Given the description of an element on the screen output the (x, y) to click on. 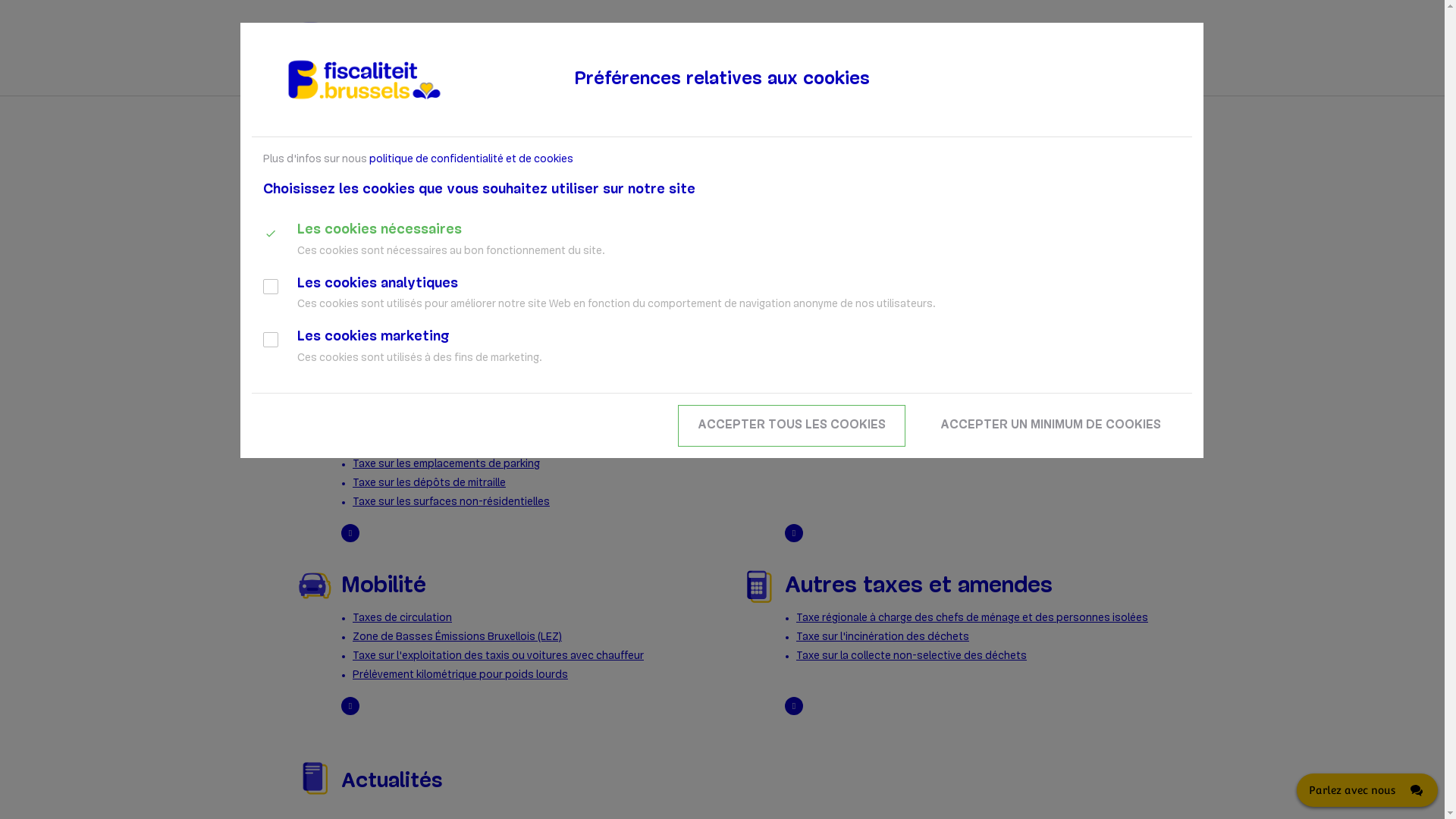
Entreprises Element type: text (845, 375)
Taxe sur l'exploitation des taxis ou voitures avec chauffeur Element type: text (497, 656)
ACCEPTER UN MINIMUM DE COOKIES Element type: text (1050, 425)
JOBS Element type: text (1038, 83)
AIDE Element type: text (1077, 83)
RECHERCHE Element type: text (1112, 43)
FR Element type: text (1147, 43)
ORGANISATION Element type: text (966, 83)
Taxe sur les emplacements de parking Element type: text (445, 464)
Parlez avec nous Element type: text (1366, 789)
Prime BE HOME Element type: text (389, 445)
MYTAX Element type: text (791, 83)
Autres taxes et amendes Element type: text (918, 586)
CONTACT Element type: text (1131, 83)
Banner MT Element type: hover (727, 205)
ACCEPTER TOUS LES COOKIES Element type: text (791, 425)
Immobilier Element type: text (395, 375)
Taxes de circulation Element type: text (401, 618)
Retour vers la page d' accueil Element type: hover (384, 45)
